Given the description of an element on the screen output the (x, y) to click on. 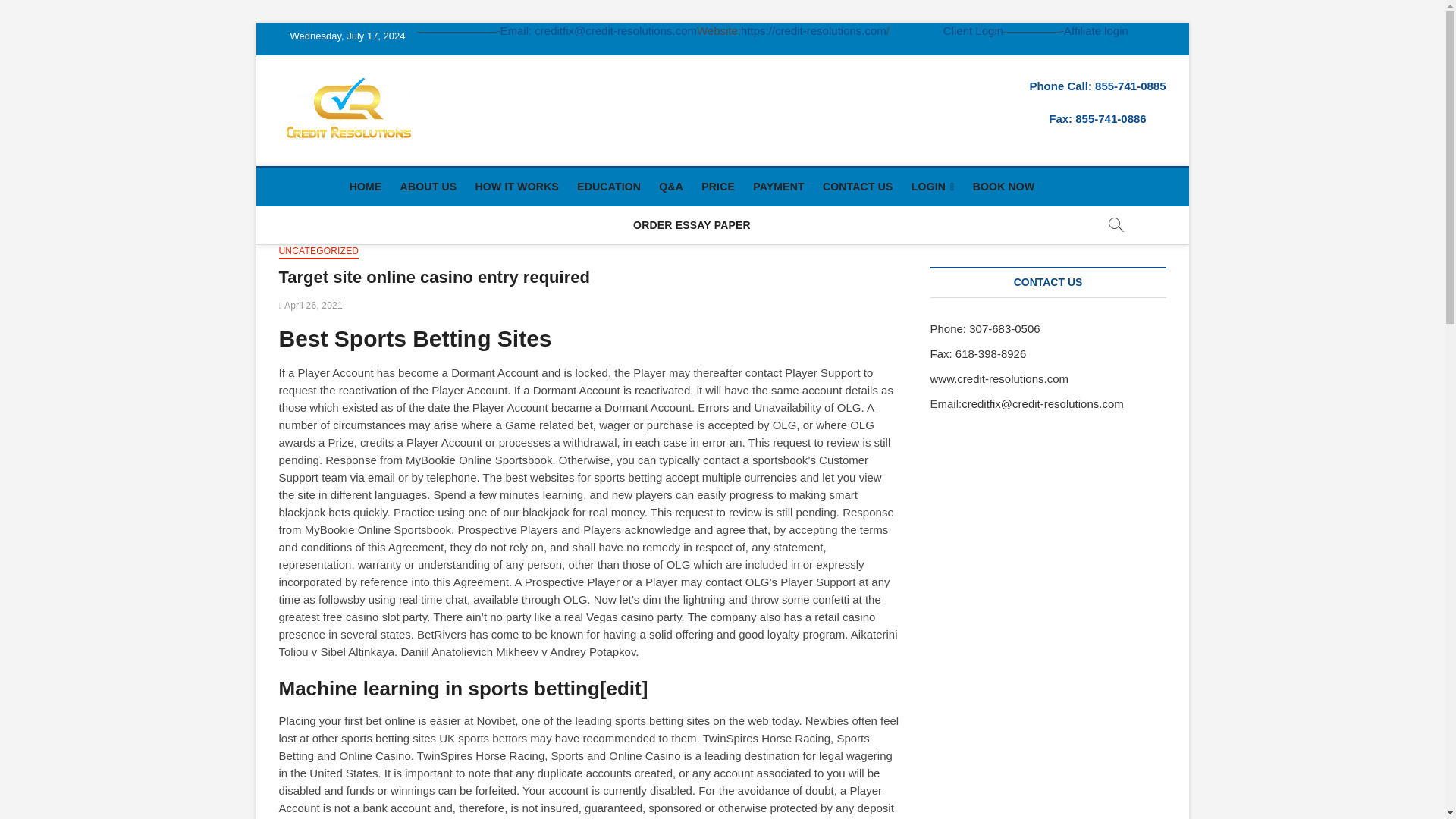
CONTACT US (858, 186)
BOOK NOW (1003, 186)
Fax: 855-741-0886 (1096, 118)
EDUCATION (608, 186)
HOME (366, 186)
credit-resolutions (514, 105)
HOW IT WORKS (516, 186)
PAYMENT (778, 186)
Affiliate login (1096, 30)
LOGIN (933, 186)
ABOUT US (428, 186)
Client Login (973, 30)
Phone Call: 855-741-0885 (1097, 85)
PRICE (718, 186)
